Given the description of an element on the screen output the (x, y) to click on. 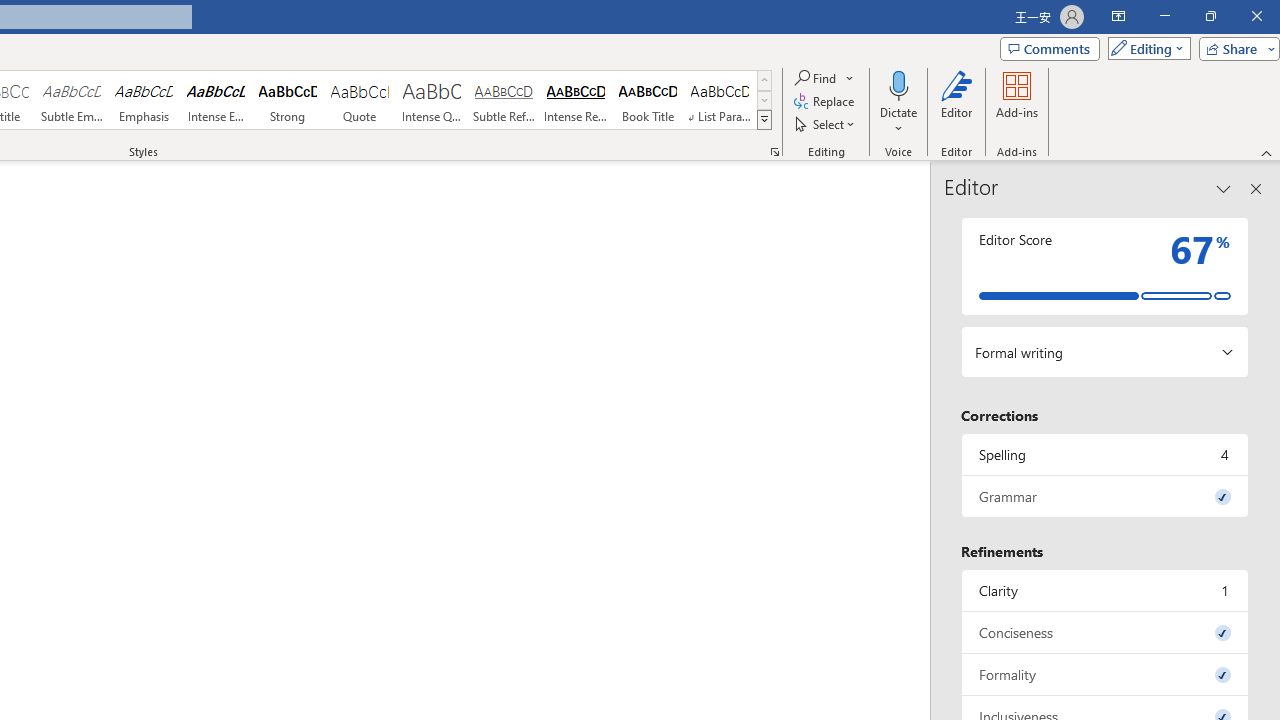
Intense Reference (575, 100)
Spelling, 4 issues. Press space or enter to review items. (1105, 454)
Formality, 0 issues. Press space or enter to review items. (1105, 673)
Intense Quote (431, 100)
Intense Emphasis (216, 100)
Conciseness, 0 issues. Press space or enter to review items. (1105, 632)
